Given the description of an element on the screen output the (x, y) to click on. 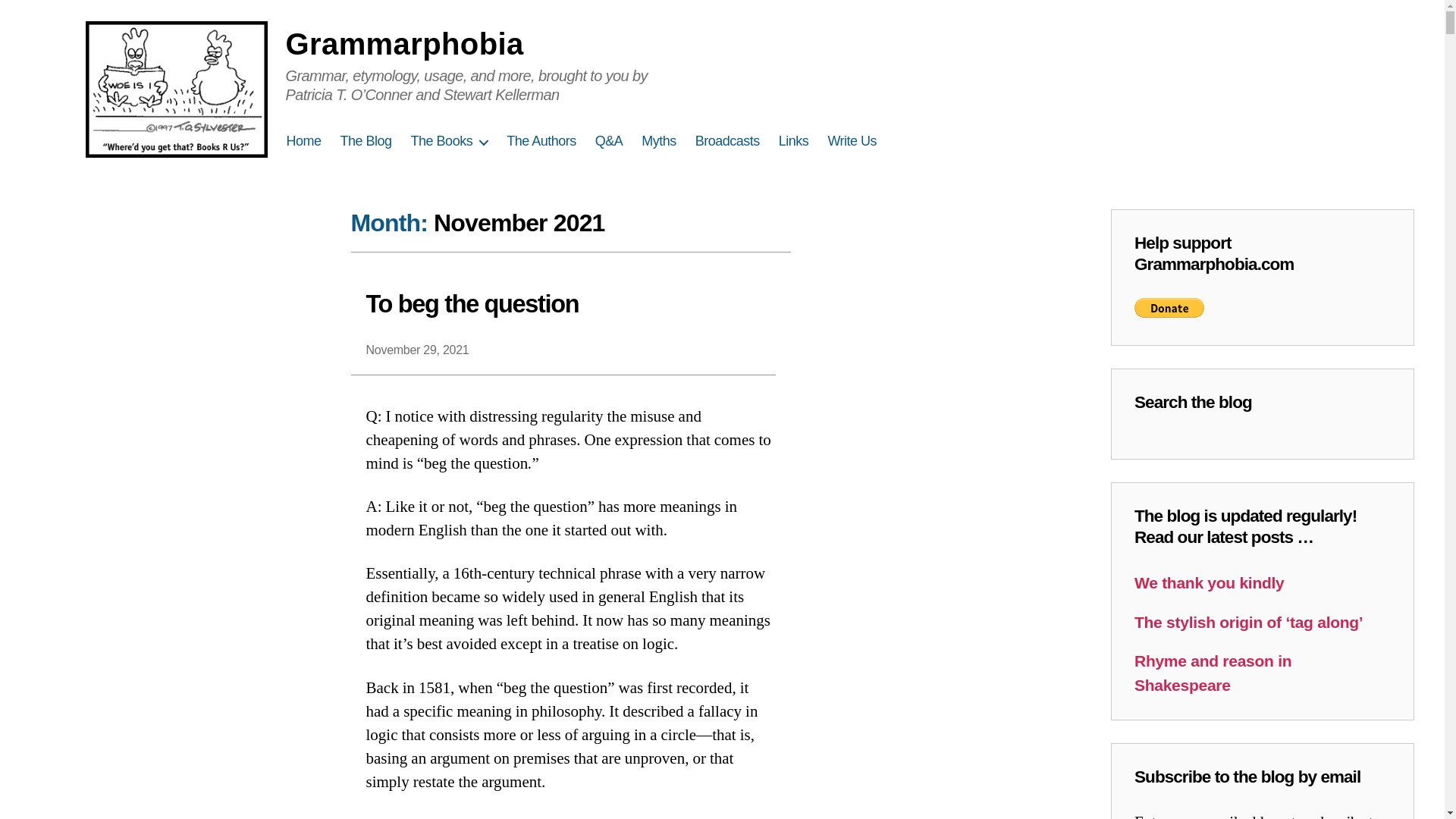
Grammarphobia (403, 43)
Myths (659, 141)
Links (793, 141)
The Books (448, 141)
The Blog (365, 141)
Write Us (851, 141)
The Authors (541, 141)
Home (303, 141)
Broadcasts (727, 141)
